Given the description of an element on the screen output the (x, y) to click on. 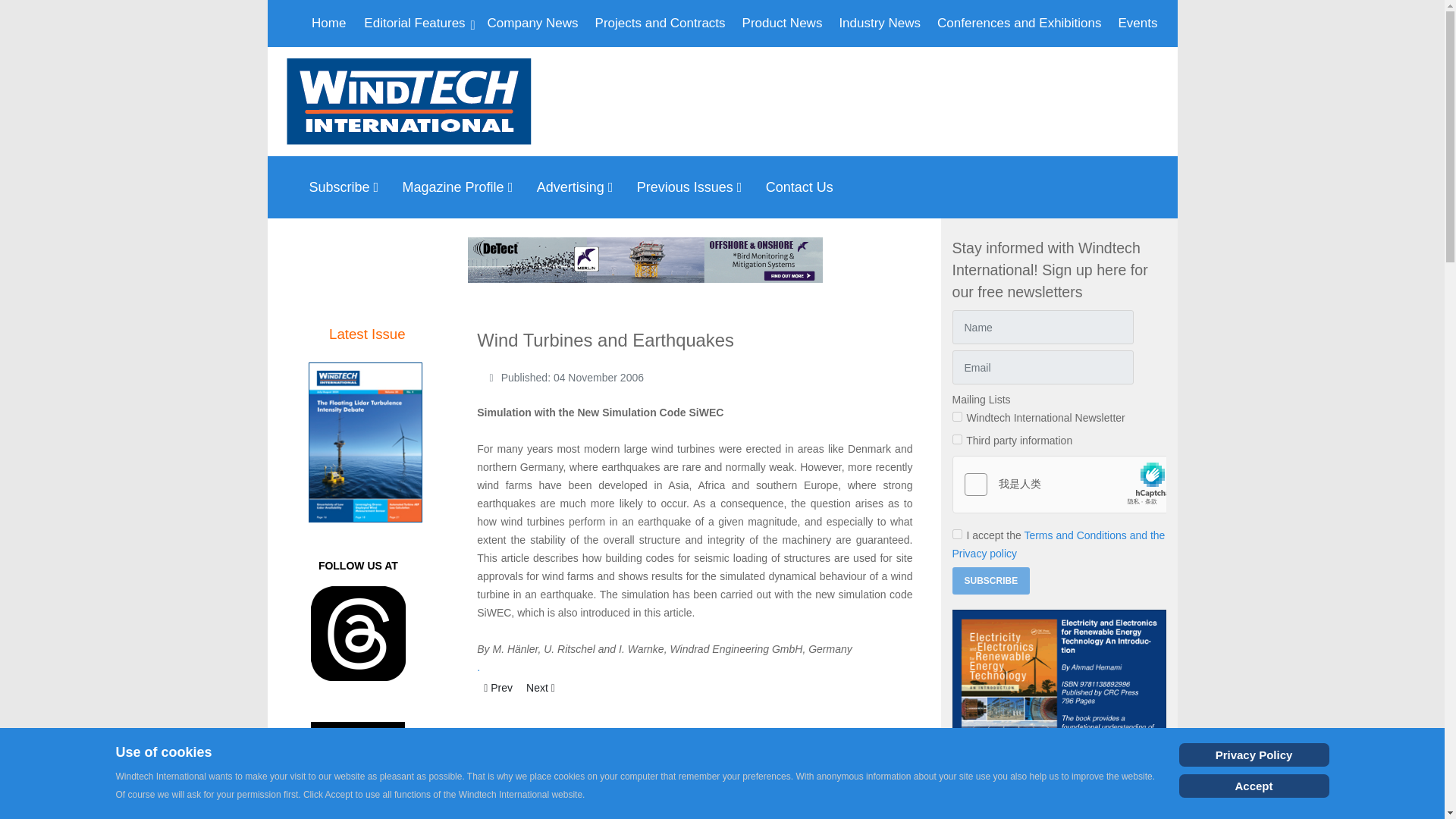
Windtech International July August 2024 issue (365, 442)
Industry News (879, 22)
Editorial Features (416, 22)
Conferences and Exhibitions (1019, 22)
Previous Issues (693, 186)
4 (957, 416)
Subscribe (991, 580)
Home (328, 22)
Magazine Profile (461, 186)
Events (1138, 22)
Subscribe (347, 186)
Projects and Contracts (660, 22)
Company News (533, 22)
on (957, 533)
5 (957, 439)
